Given the description of an element on the screen output the (x, y) to click on. 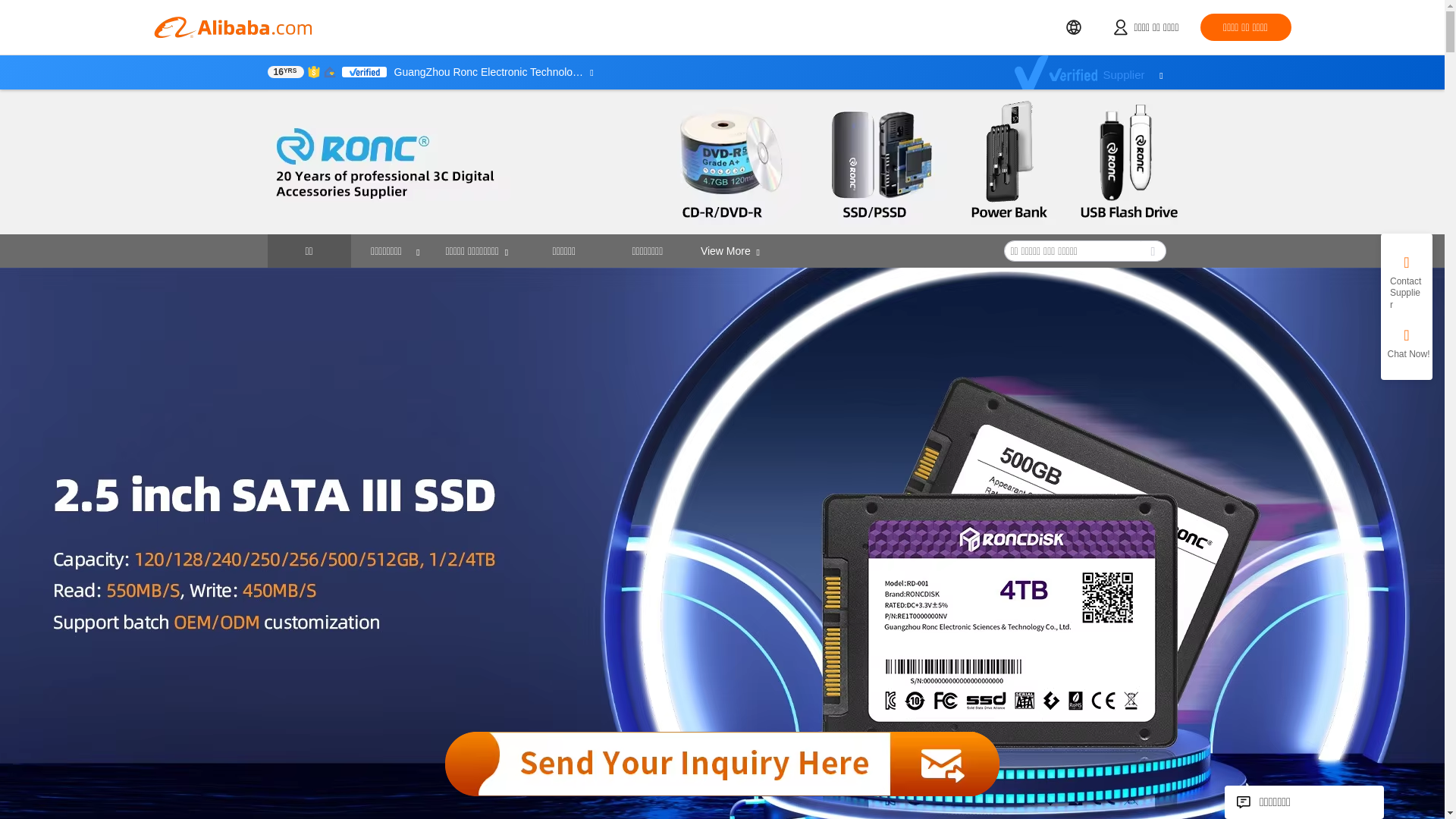
Supplier (1095, 72)
What is Gold Supplier? (284, 71)
16YRS (284, 71)
